Given the description of an element on the screen output the (x, y) to click on. 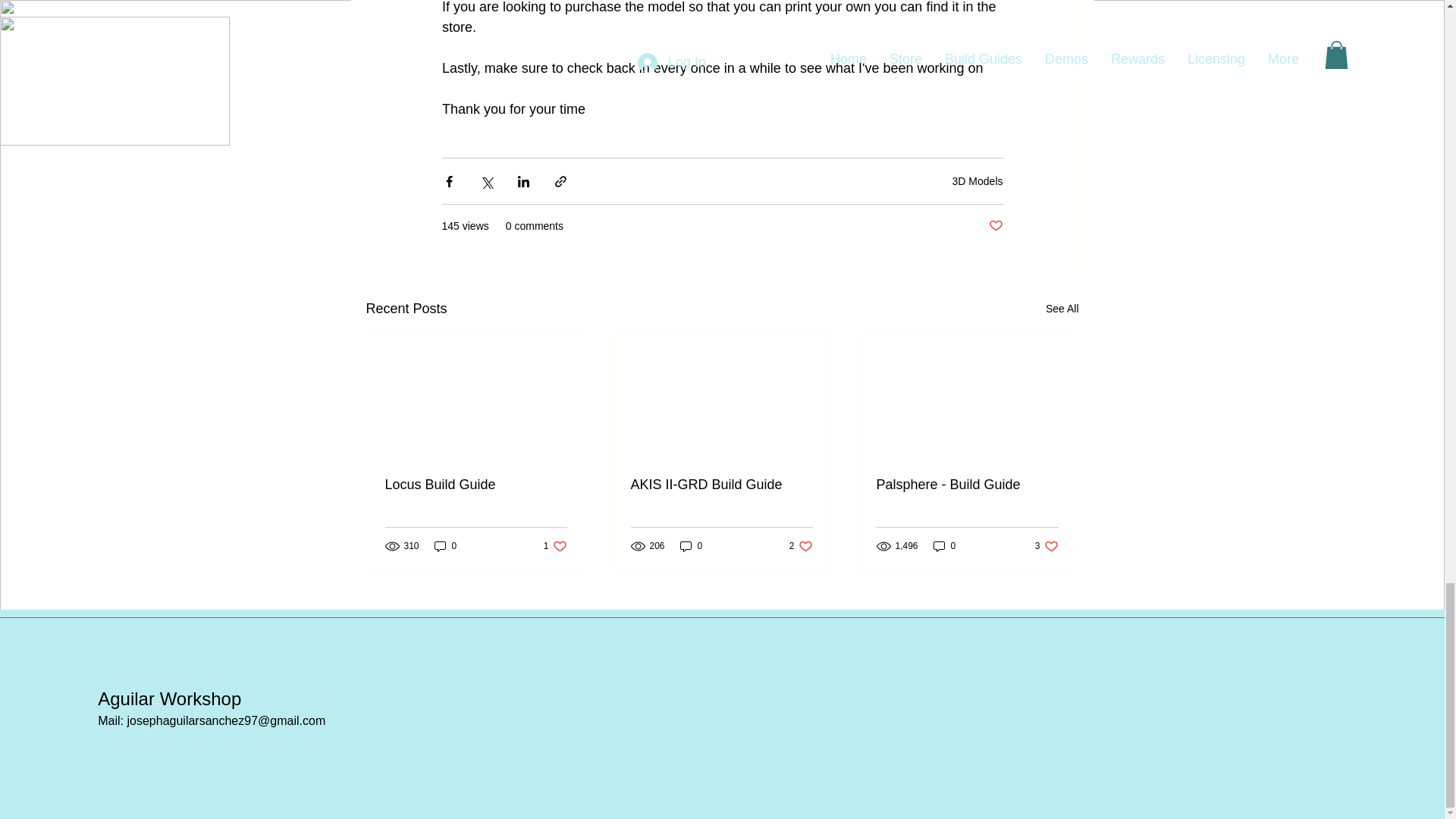
3D Models (977, 181)
Palsphere - Build Guide (967, 484)
0 (691, 545)
0 (944, 545)
0 (445, 545)
Aguilar Workshop (1046, 545)
Post not marked as liked (800, 545)
